Given the description of an element on the screen output the (x, y) to click on. 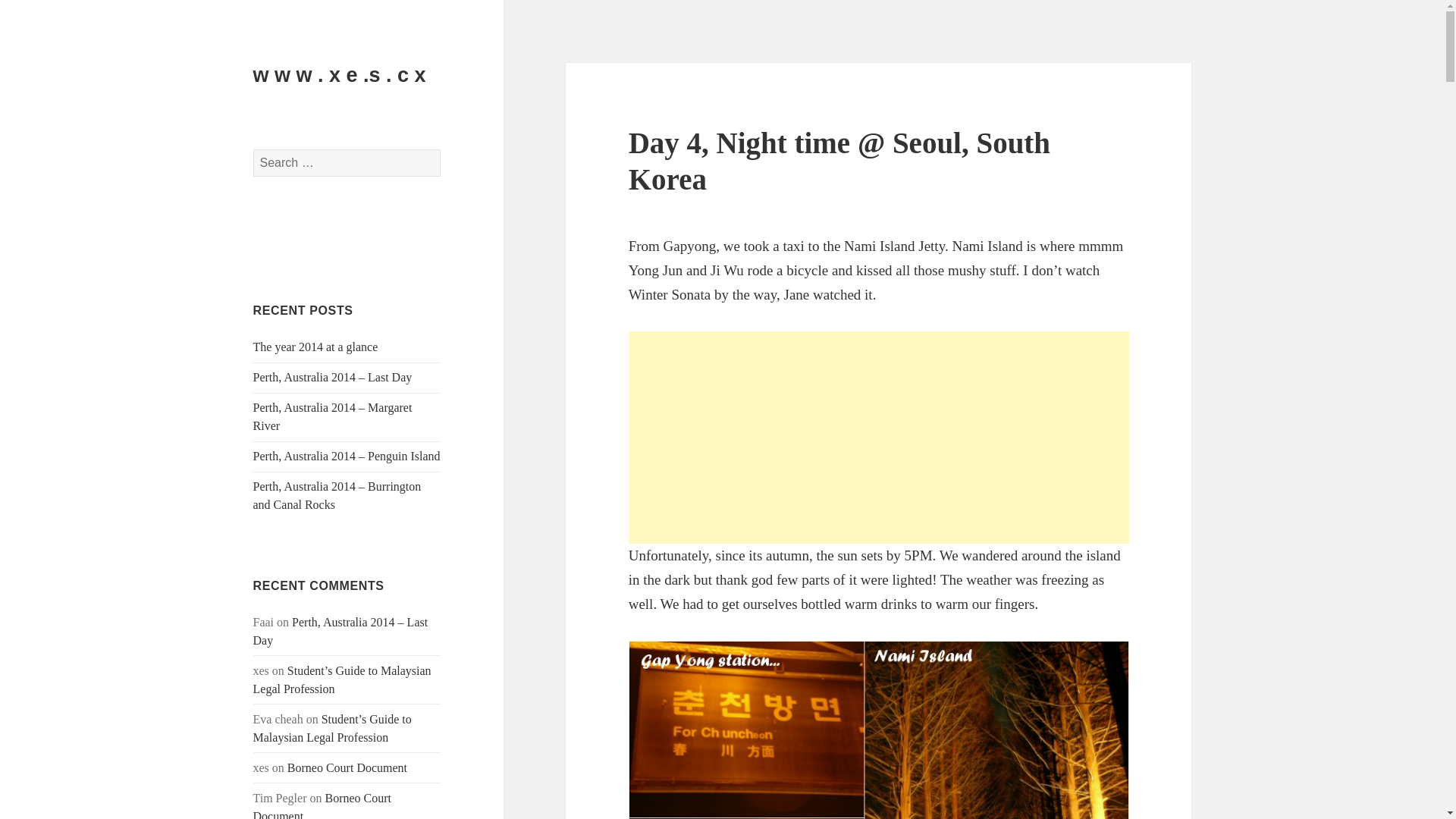
w w w . x e .s . c x (339, 74)
Borneo Court Document (322, 805)
Borneo Court Document (346, 767)
The year 2014 at a glance (315, 346)
